Given the description of an element on the screen output the (x, y) to click on. 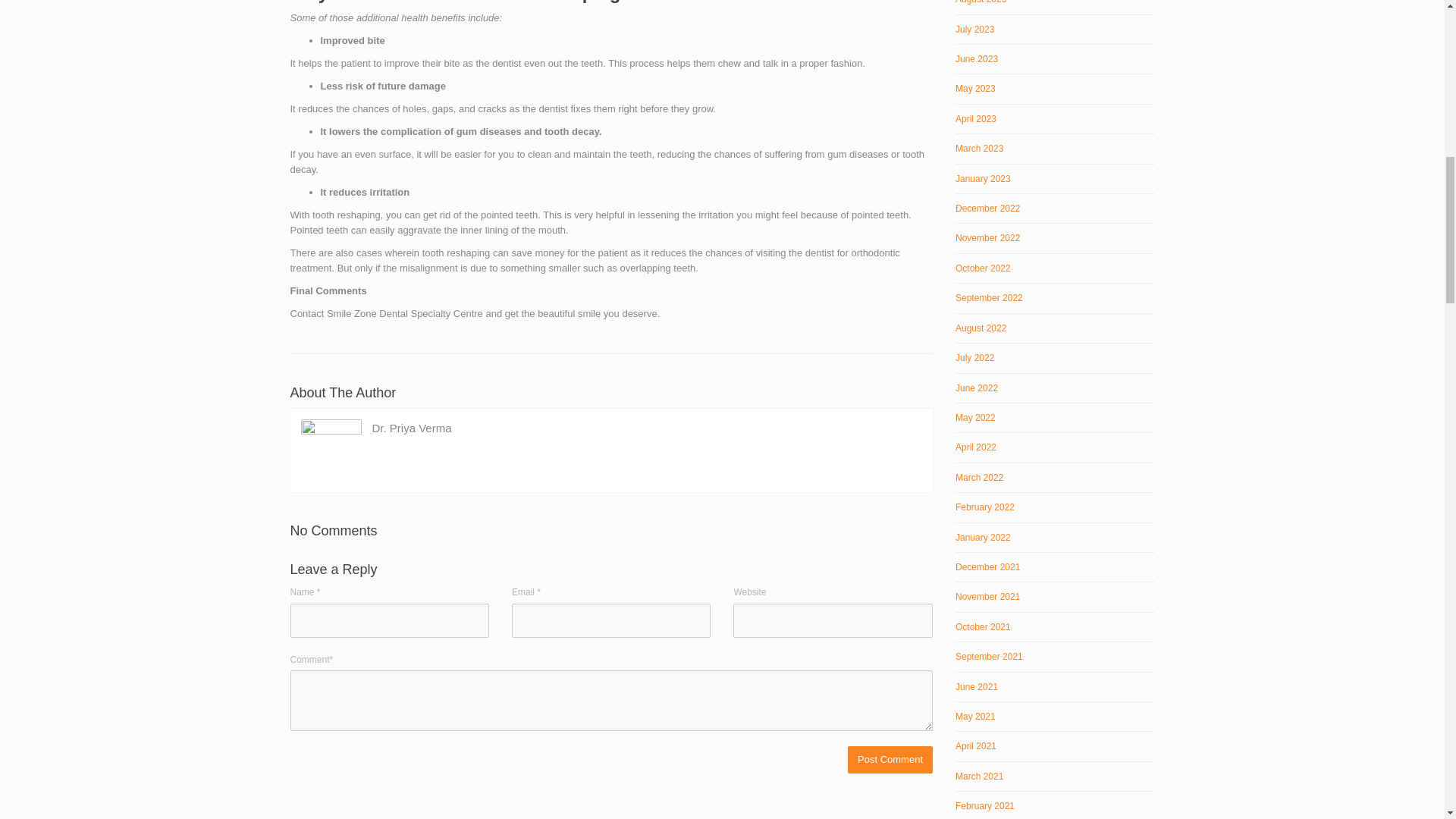
Post Comment (890, 759)
